Given the description of an element on the screen output the (x, y) to click on. 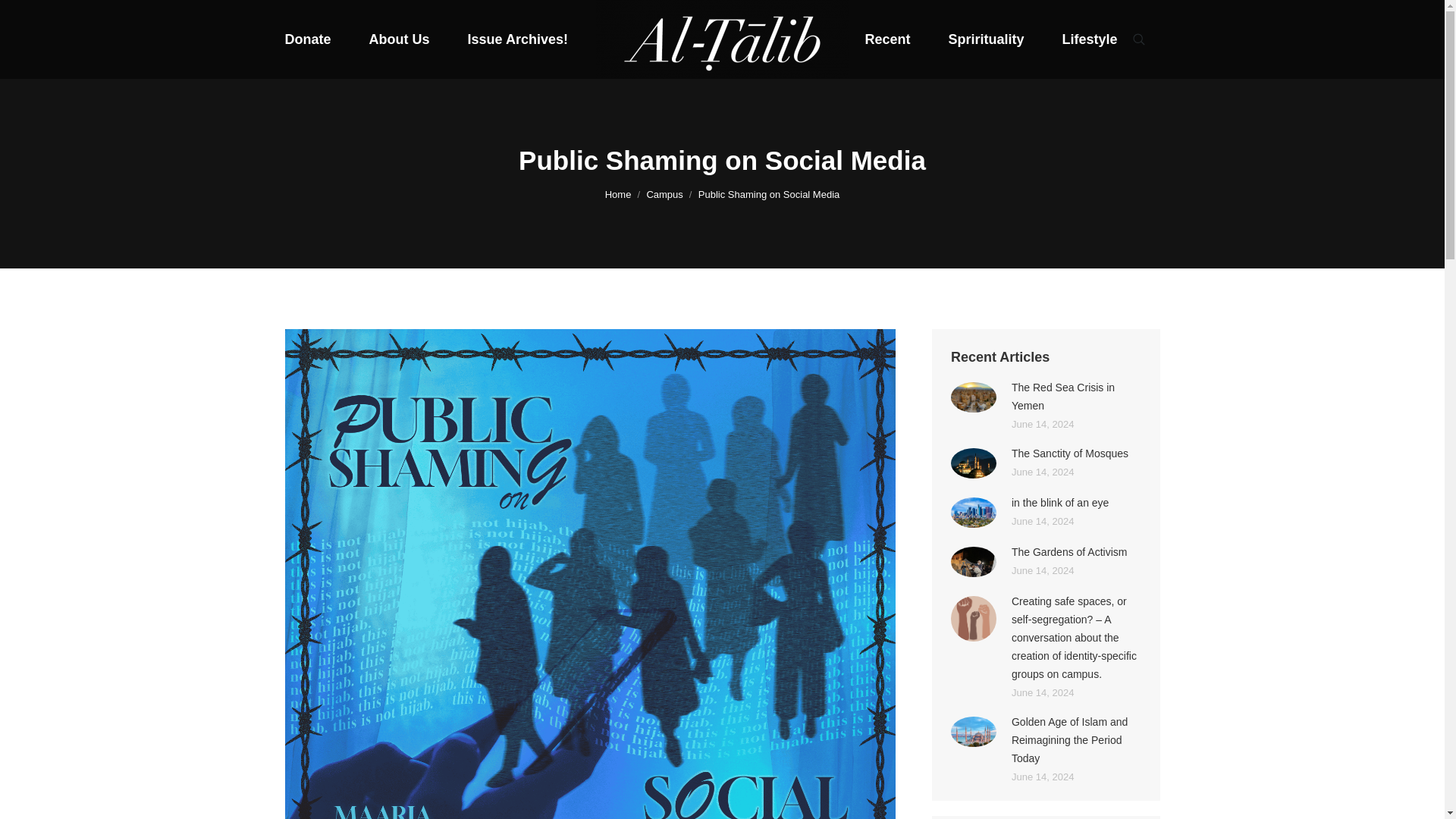
Sprirituality (985, 39)
Post Comment (48, 15)
Home (618, 193)
Donate (308, 39)
Campus (664, 193)
Lifestyle (1088, 39)
Issue Archives! (517, 39)
About Us (399, 39)
The Red Sea Crisis in Yemen (1076, 396)
Go! (19, 15)
